Given the description of an element on the screen output the (x, y) to click on. 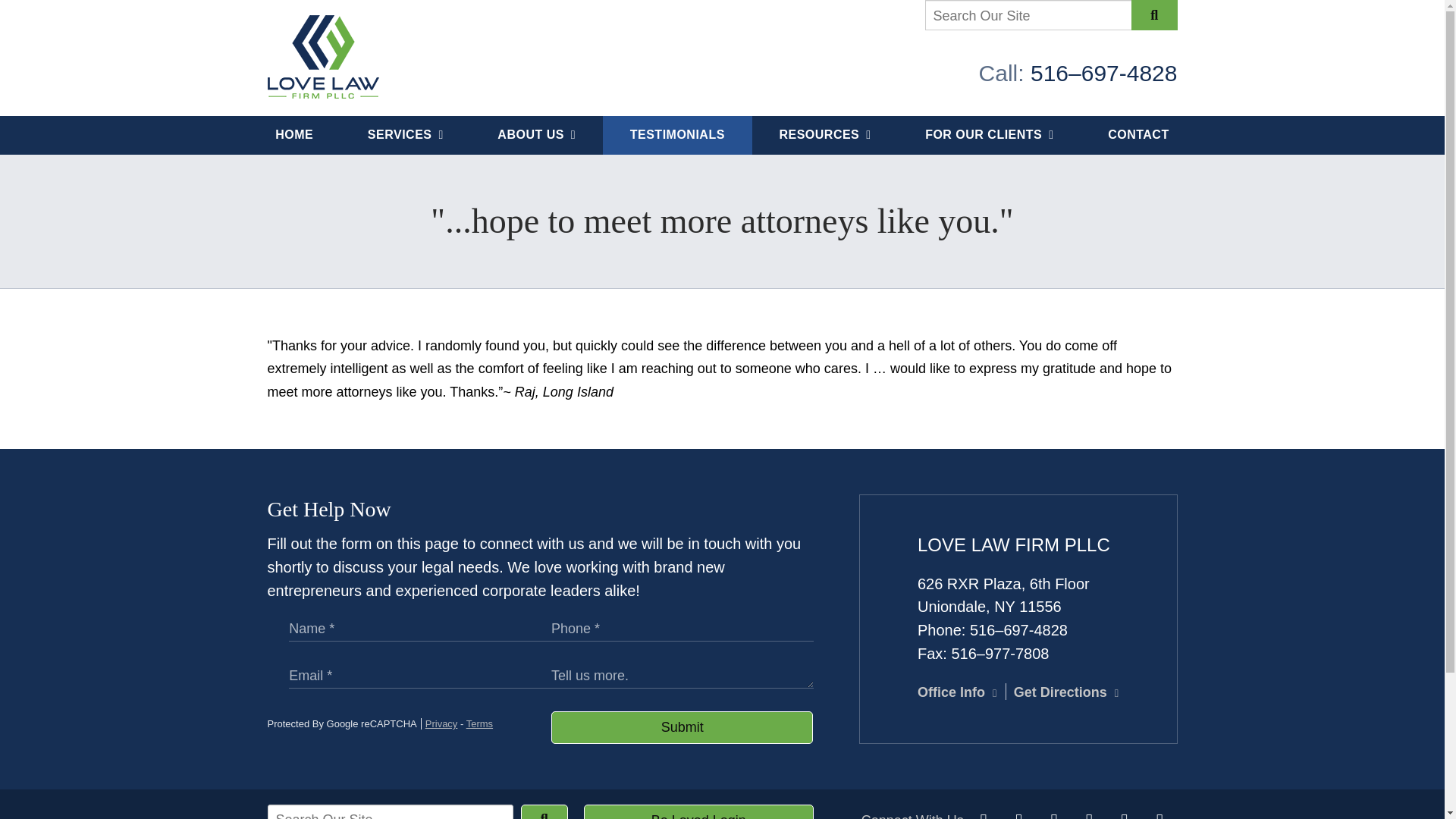
HOME (294, 135)
TESTIMONIALS (677, 135)
Office Info (956, 692)
Terms (479, 723)
RESOURCES (825, 135)
YouTube (1089, 815)
Search (544, 811)
CONTACT (1137, 135)
Search (1153, 15)
ABOUT US (536, 135)
Facebook (983, 815)
Instagram (1123, 815)
Submit (682, 727)
RSS Feed (1159, 815)
SERVICES (405, 135)
